Given the description of an element on the screen output the (x, y) to click on. 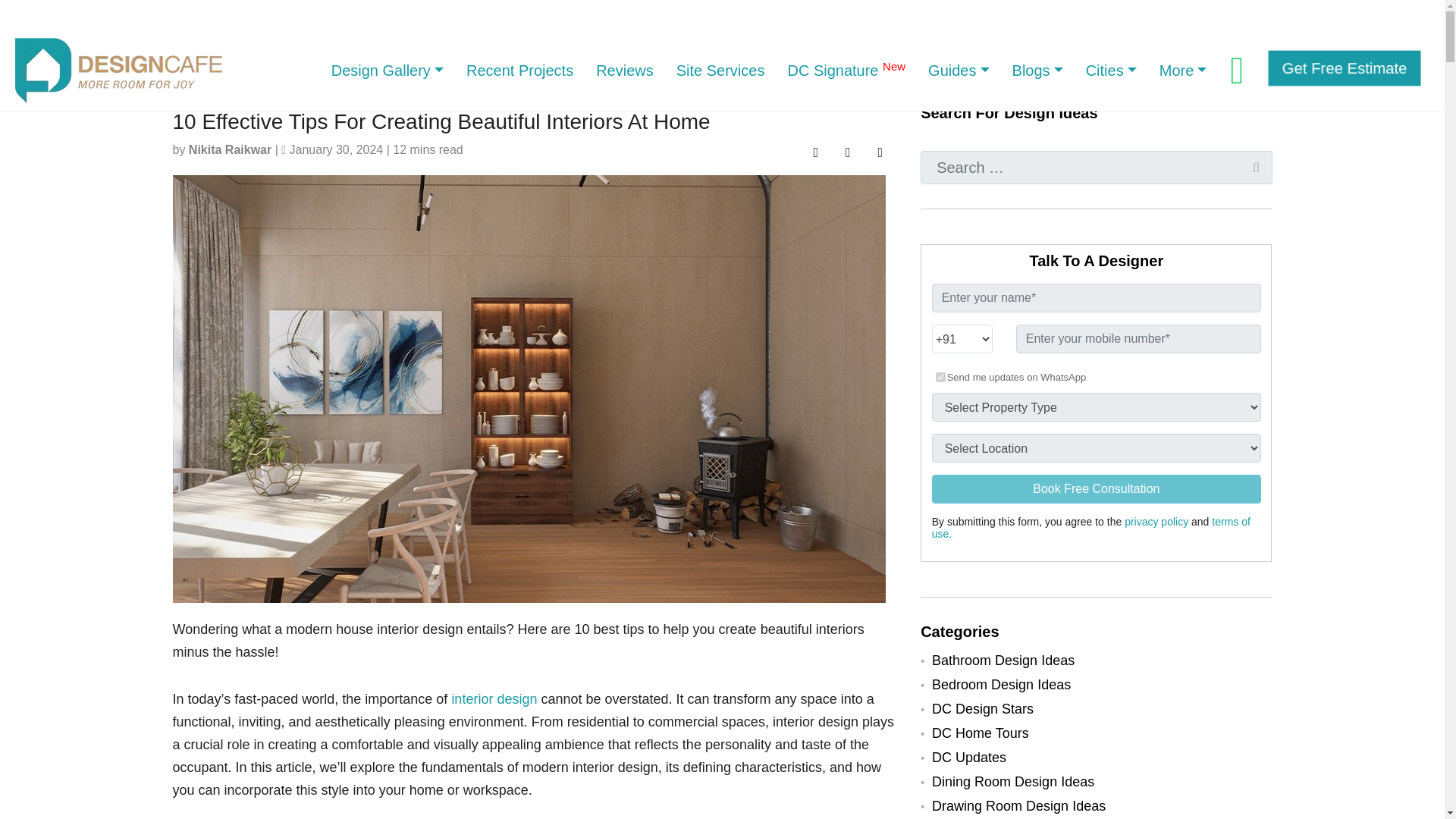
Blogs (1037, 69)
DC Signature (846, 69)
Recent Projects (519, 69)
Design Gallery (387, 69)
Design Gallery (387, 69)
Site Services (720, 69)
on (940, 377)
Site Services (720, 69)
Guides (958, 69)
DC Signature New (846, 69)
